Given the description of an element on the screen output the (x, y) to click on. 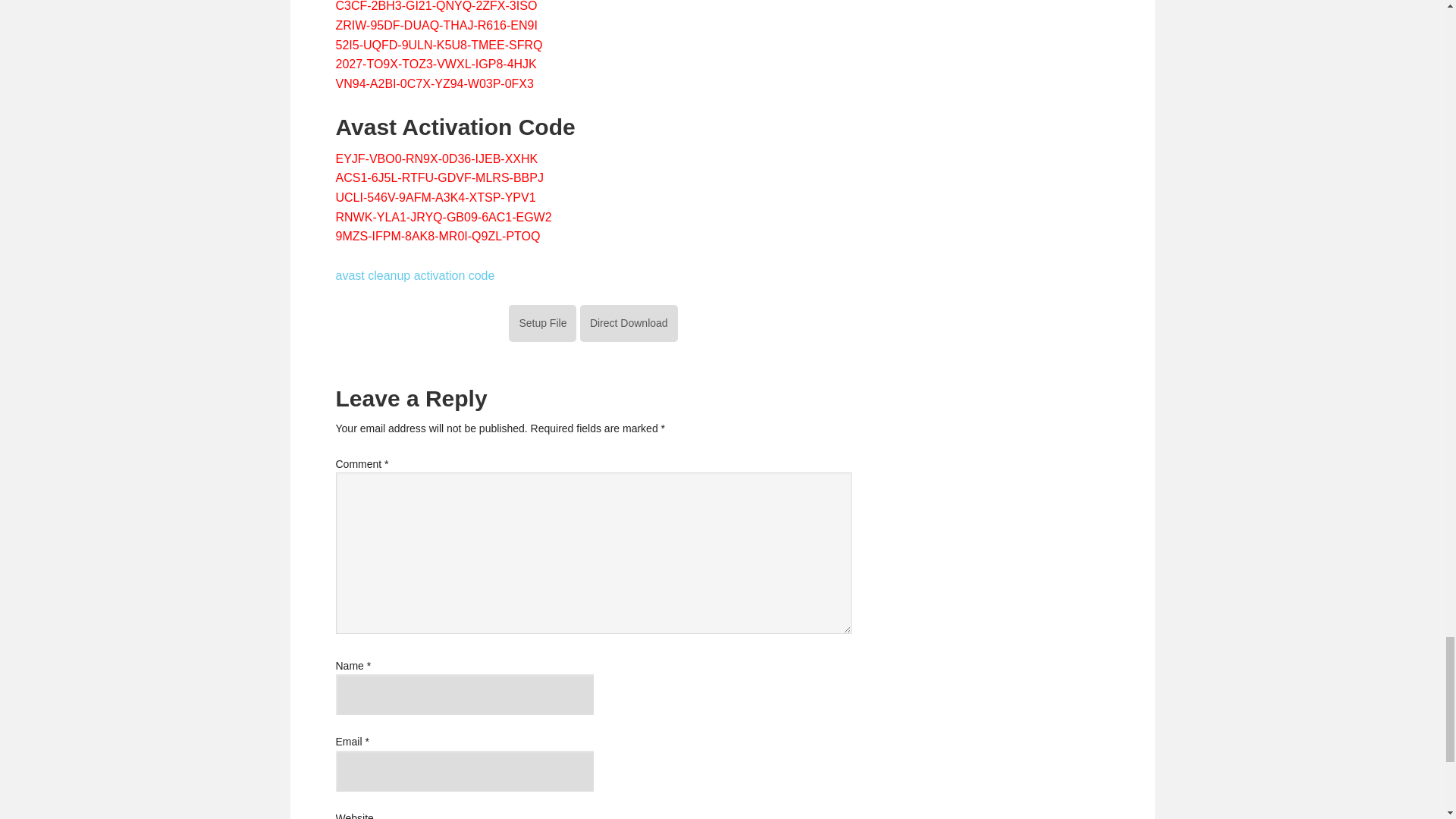
Setup File (542, 322)
Setup File Direct Download (592, 322)
Direct Download (628, 322)
avast cleanup activation code (414, 275)
